Given the description of an element on the screen output the (x, y) to click on. 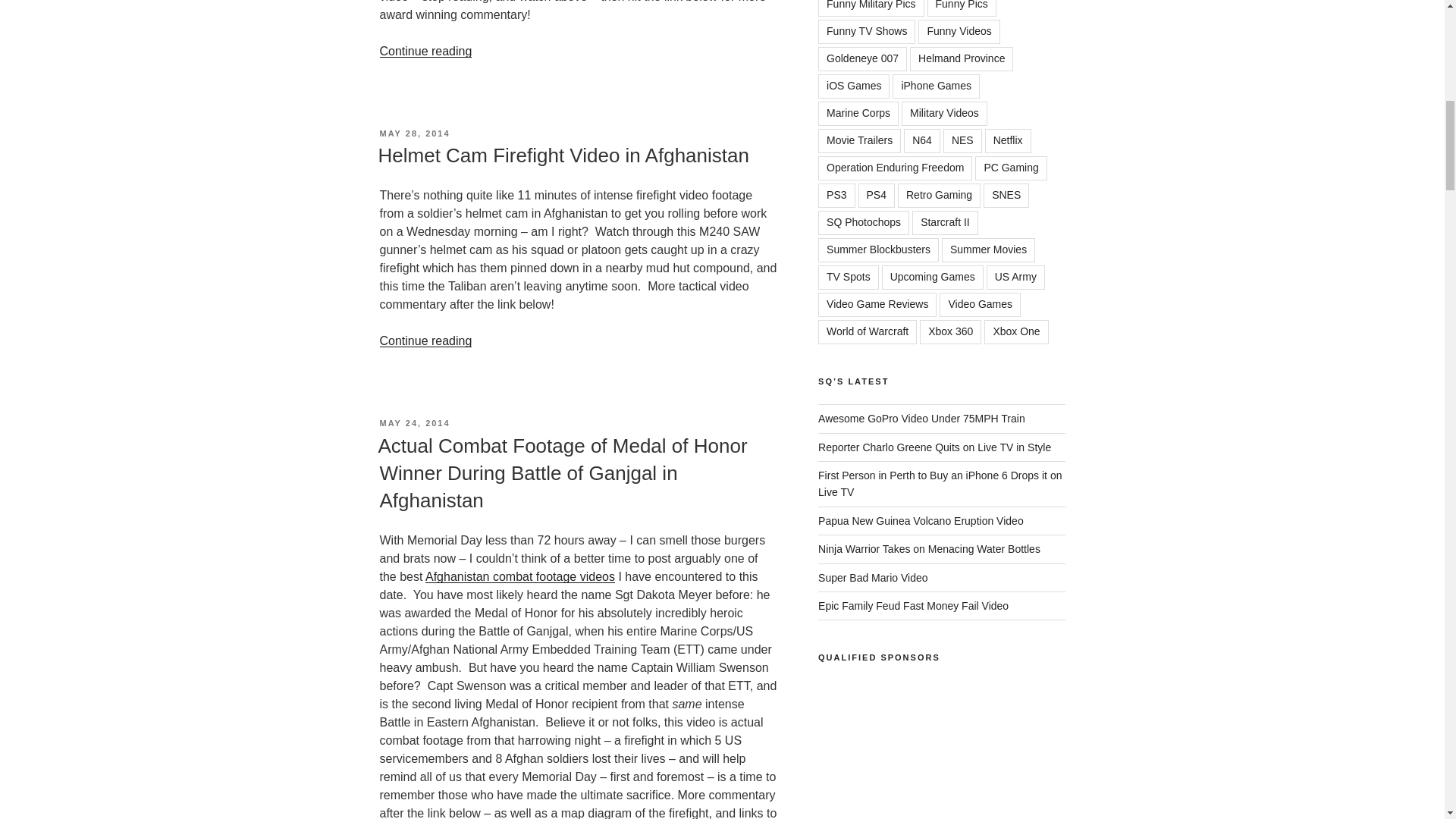
MAY 24, 2014 (413, 422)
Afghanistan combat footage videos (519, 576)
Helmet Cam Firefight Video in Afghanistan (562, 155)
MAY 28, 2014 (413, 133)
